Given the description of an element on the screen output the (x, y) to click on. 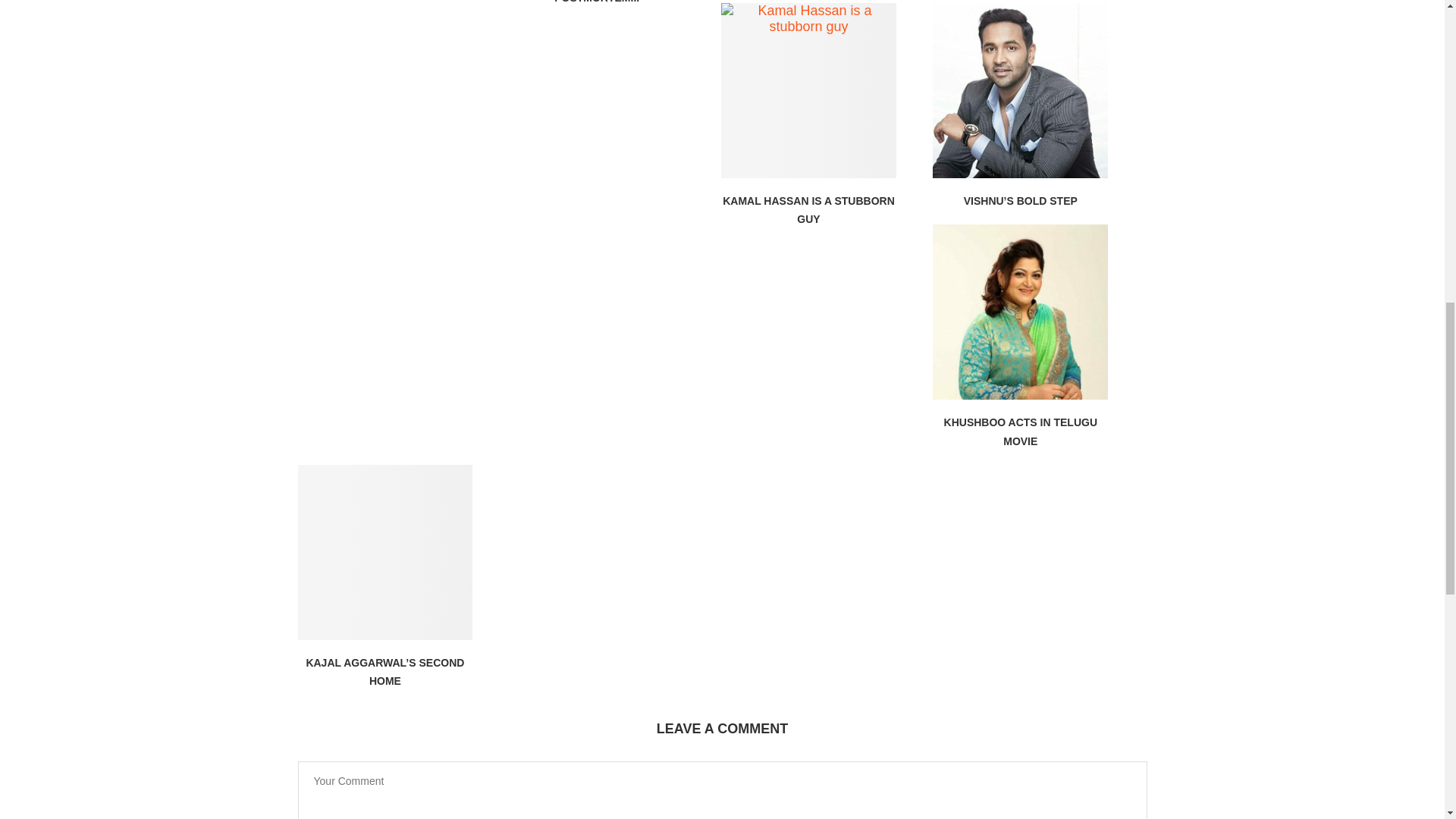
Kamal Hassan is a stubborn guy (808, 90)
KAMAL HASSAN IS A STUBBORN GUY (808, 209)
KHUSHBOO ACTS IN TELUGU MOVIE (1020, 431)
AMALA PAUL SAYS SHE WITNESSED REAL LIFE POSTMORTEM... (596, 2)
Khushboo acts in Telugu movie (1020, 311)
